Given the description of an element on the screen output the (x, y) to click on. 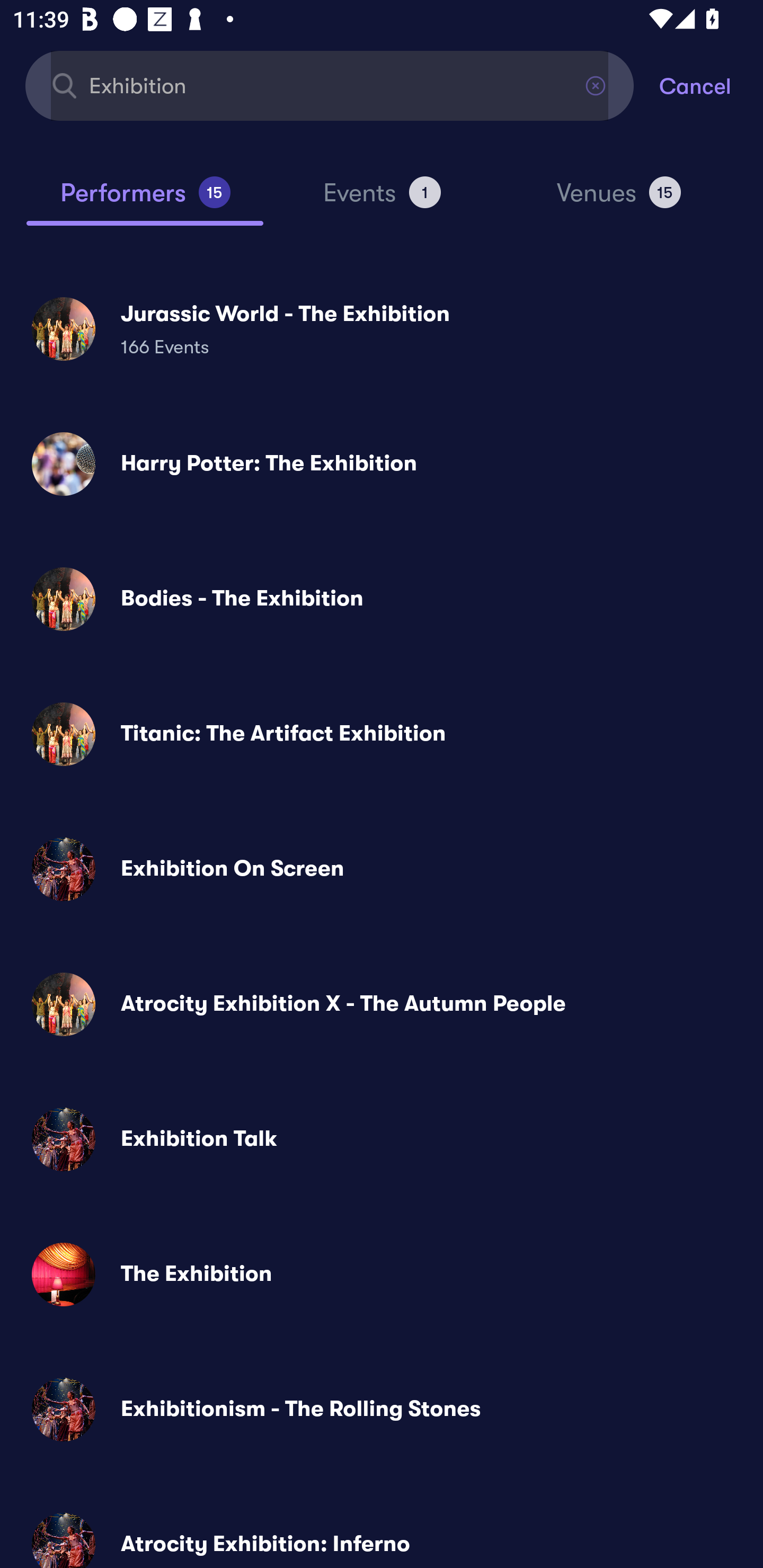
Exhibition Find (329, 85)
Exhibition Find (329, 85)
Cancel (711, 85)
Performers 15 (144, 200)
Events 1 (381, 200)
Venues 15 (618, 200)
Jurassic World - The Exhibition 166 Events (381, 328)
Harry Potter: The Exhibition (381, 464)
Bodies - The Exhibition (381, 598)
Titanic: The Artifact Exhibition (381, 734)
Exhibition On Screen (381, 869)
Atrocity Exhibition X - The Autumn People (381, 1004)
Exhibition Talk (381, 1138)
The Exhibition (381, 1273)
Exhibitionism - The Rolling Stones (381, 1409)
Atrocity Exhibition: Inferno (381, 1532)
